Given the description of an element on the screen output the (x, y) to click on. 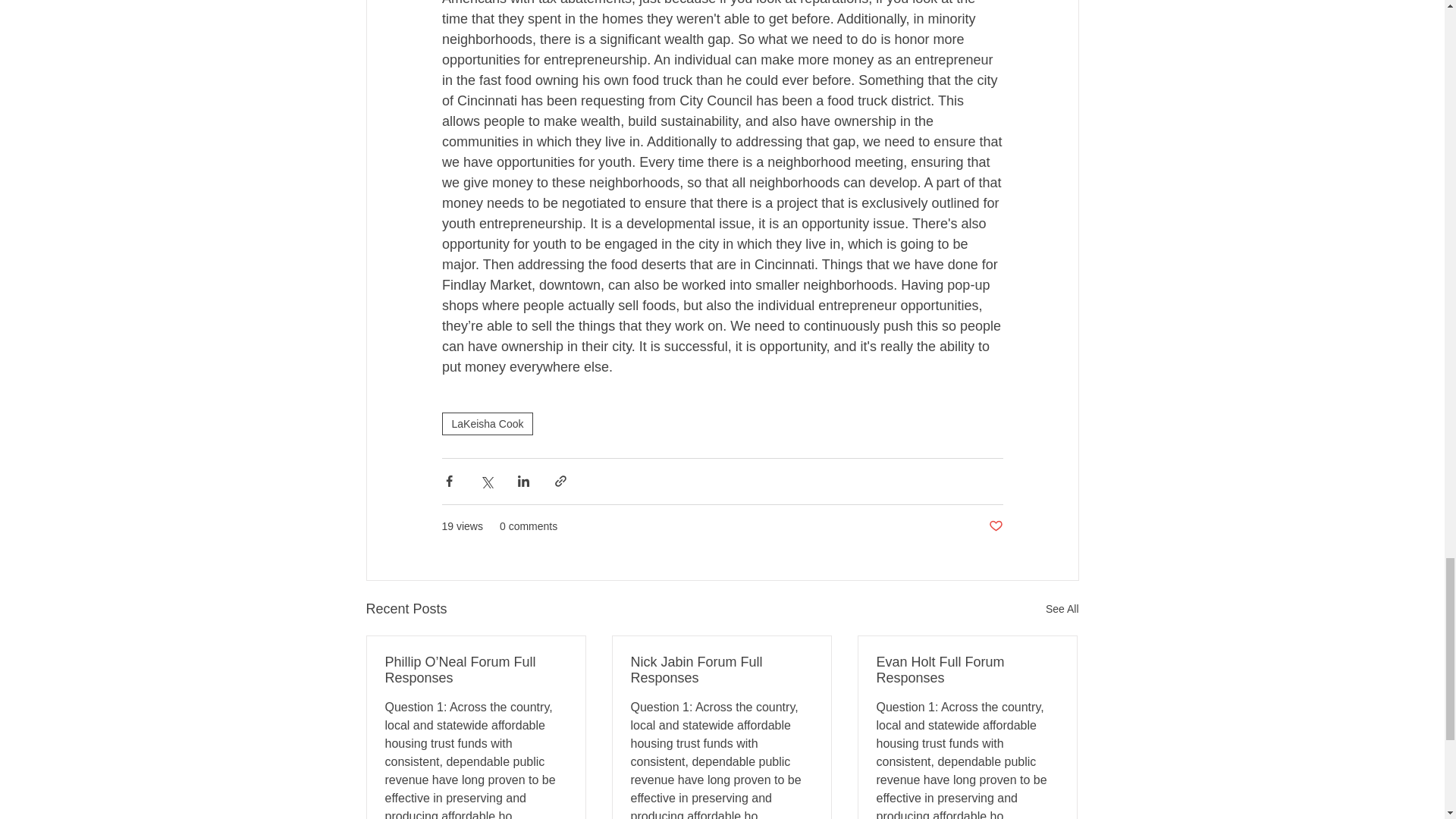
Evan Holt Full Forum Responses (967, 670)
LaKeisha Cook (486, 423)
Nick Jabin Forum Full Responses (721, 670)
See All (1061, 608)
Post not marked as liked (995, 526)
